Given the description of an element on the screen output the (x, y) to click on. 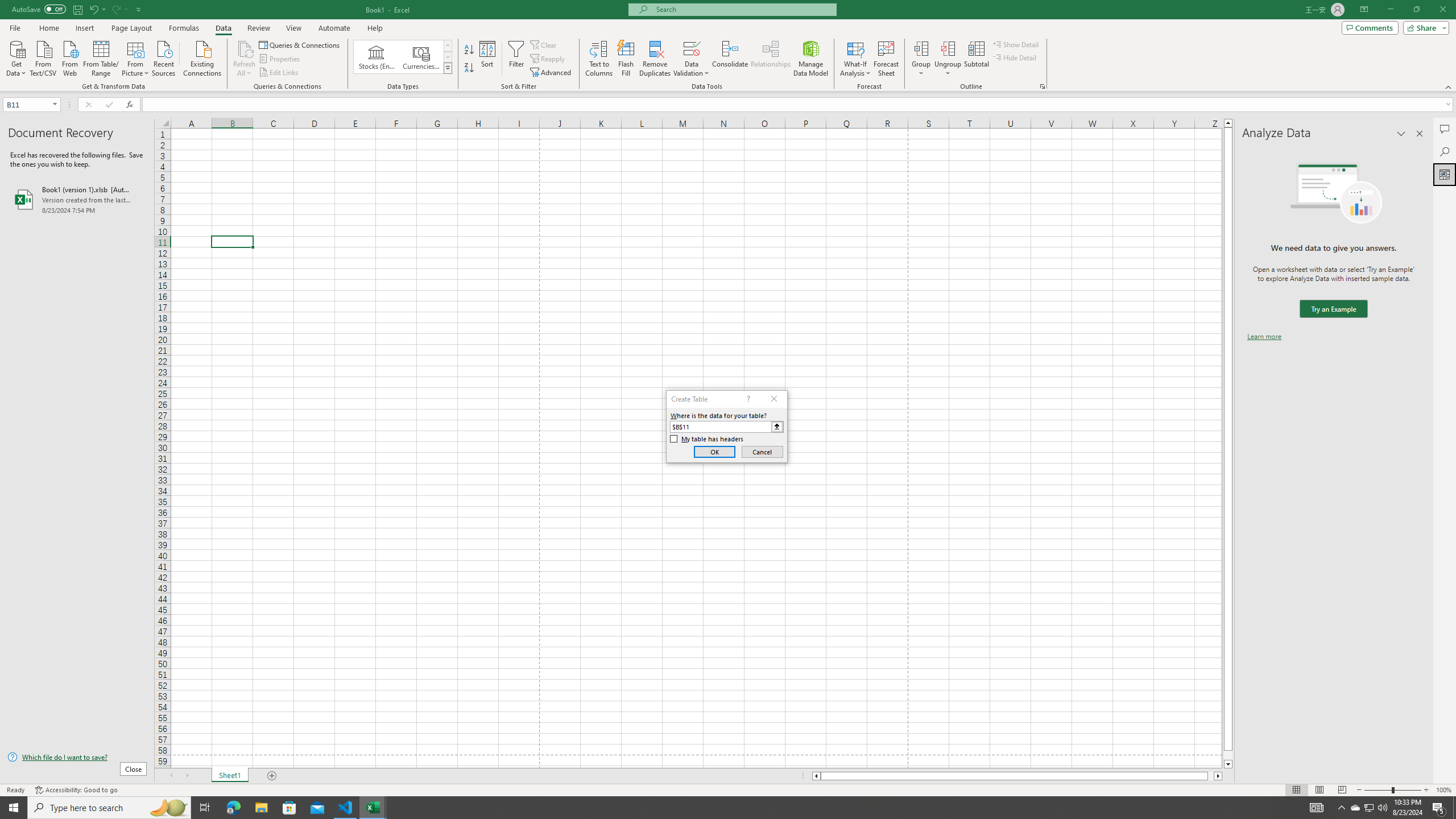
What-If Analysis (855, 58)
Advanced... (551, 72)
From Picture (135, 57)
Sort A to Z (469, 49)
Row Down (448, 56)
